Given the description of an element on the screen output the (x, y) to click on. 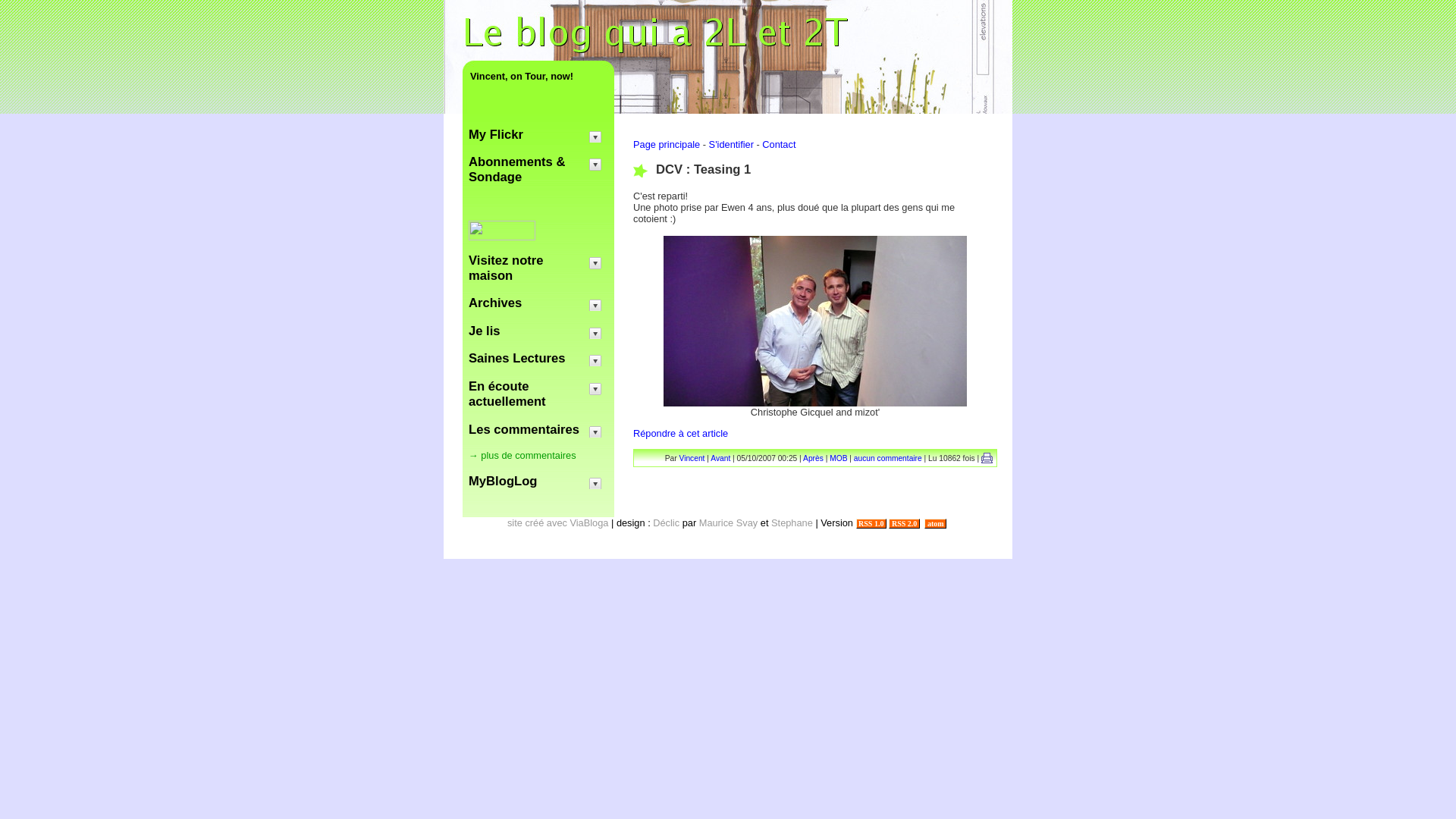
 atom  Element type: text (935, 523)
Maurice Svay Element type: text (728, 522)
Avant Element type: text (720, 458)
aucun commentaire Element type: text (888, 458)
Contact Element type: text (778, 144)
Stephane Element type: text (791, 522)
Page principale Element type: text (666, 144)
Vincent Element type: text (692, 458)
Version imprimable Element type: hover (986, 458)
Vincent, on Tour, now! Element type: text (538, 75)
 RSS 2.0  Element type: text (903, 522)
S'identifier Element type: text (731, 144)
 RSS 1.0  Element type: text (871, 522)
MOB Element type: text (838, 458)
